Given the description of an element on the screen output the (x, y) to click on. 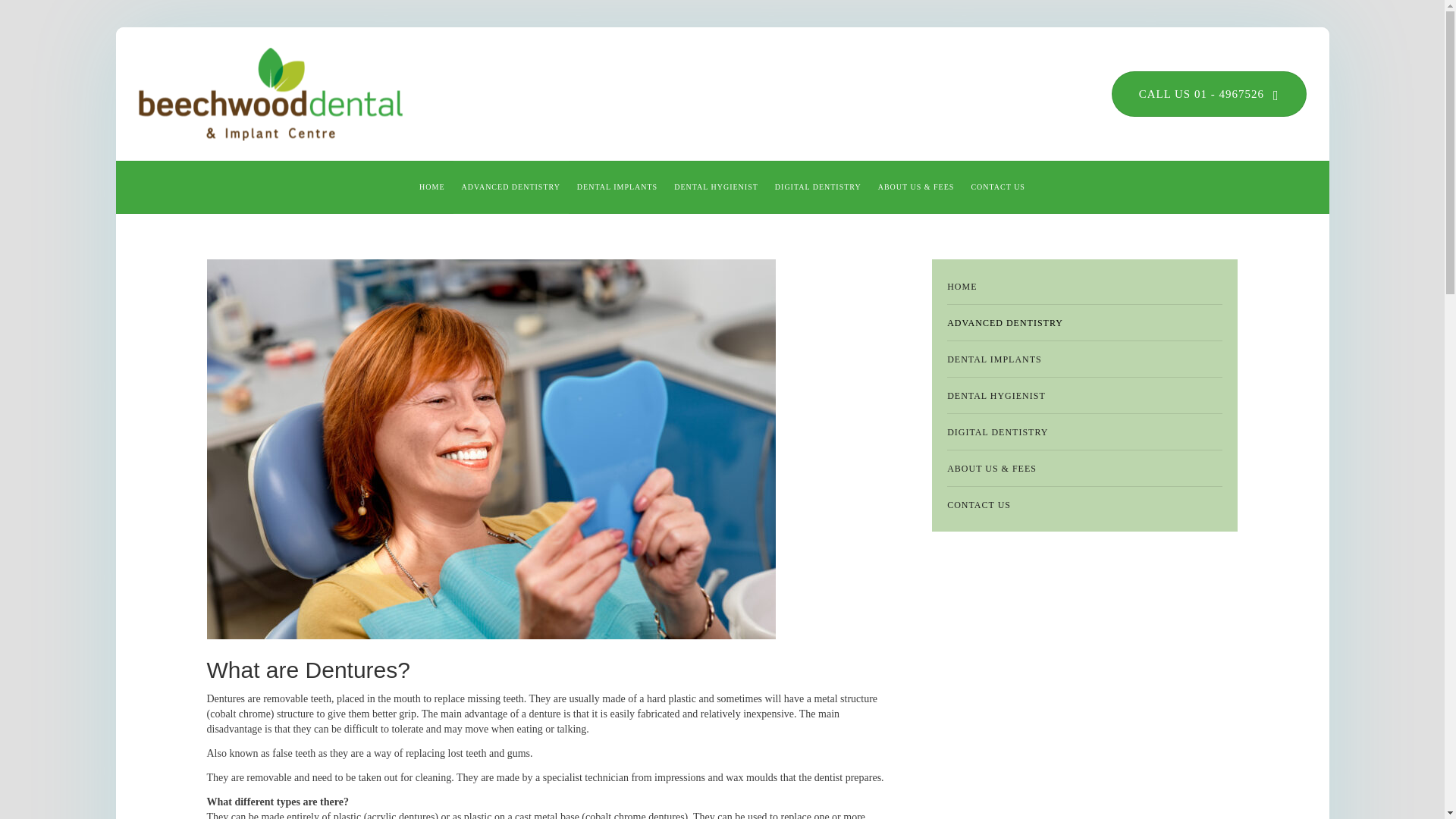
ADVANCED DENTISTRY (510, 186)
DENTAL IMPLANTS (617, 186)
CALL US 01 - 4967526 (1209, 94)
DENTAL HYGIENIST (716, 186)
DIGITAL DENTISTRY (818, 186)
CONTACT US (997, 186)
